Given the description of an element on the screen output the (x, y) to click on. 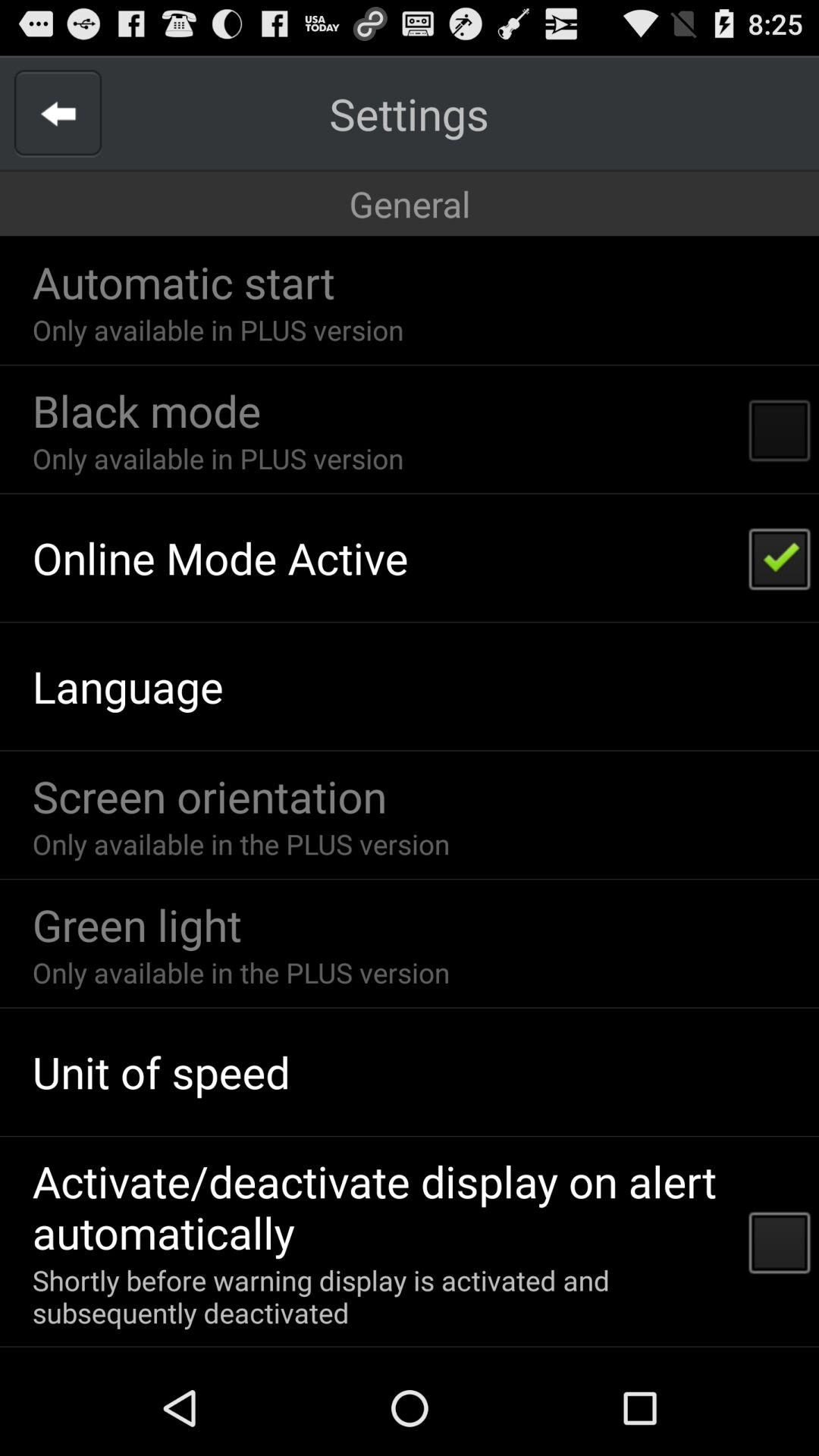
choose item below the only available in item (146, 410)
